Given the description of an element on the screen output the (x, y) to click on. 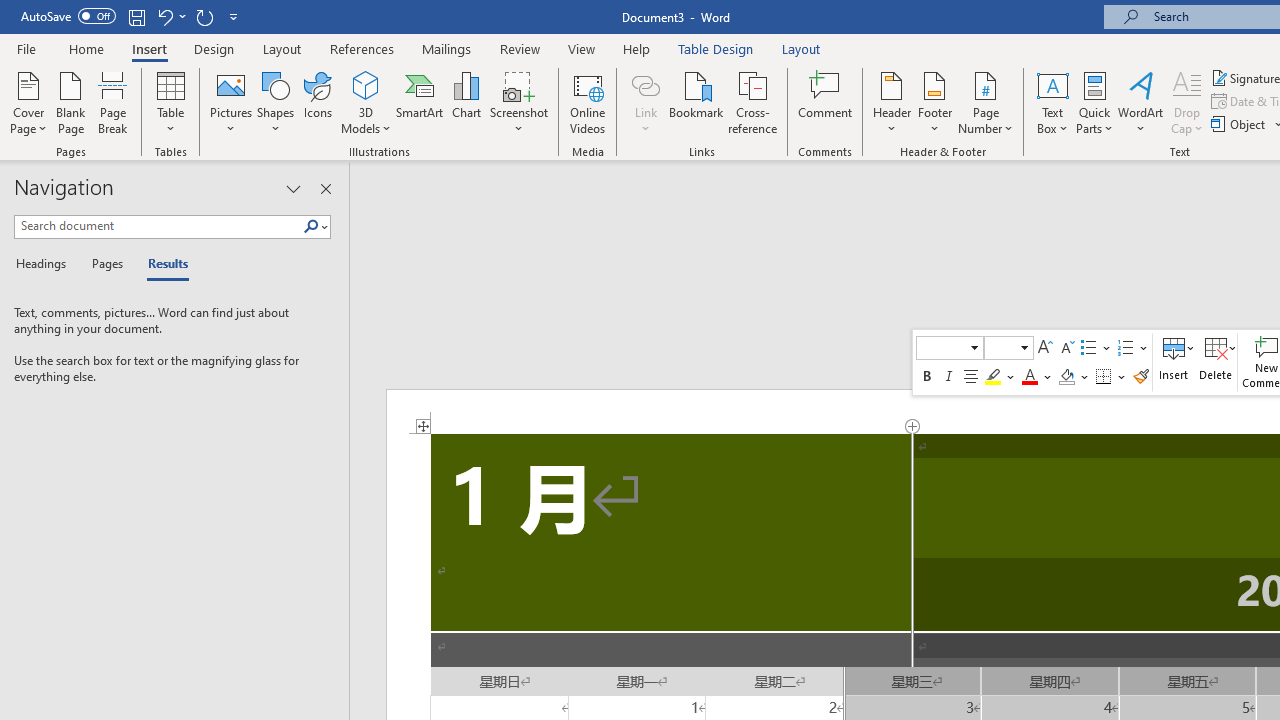
Comment (825, 102)
Headings (45, 264)
Bold (927, 376)
Font Color Red (1029, 376)
Delete (1215, 361)
Pages (105, 264)
